Given the description of an element on the screen output the (x, y) to click on. 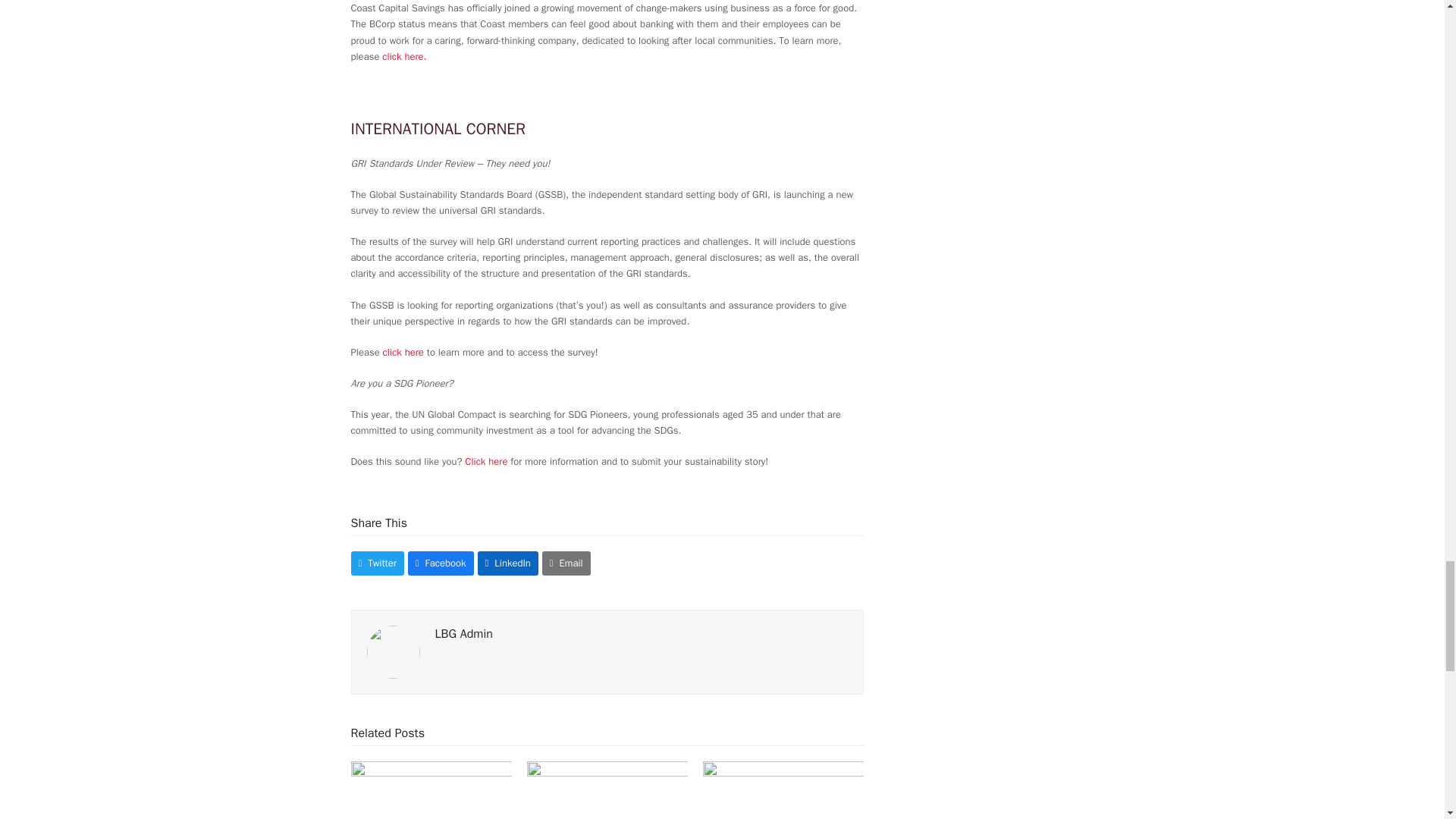
LBG Admin (464, 633)
click here (402, 351)
LBG Canada November Newsletter 2021 (607, 799)
Email (566, 562)
LBG Canada May Newsletter 2023 (430, 799)
Visit Author Page (464, 633)
LinkedIn (507, 562)
Facebook (440, 562)
Twitter (376, 562)
Visit Author Page (393, 650)
